Given the description of an element on the screen output the (x, y) to click on. 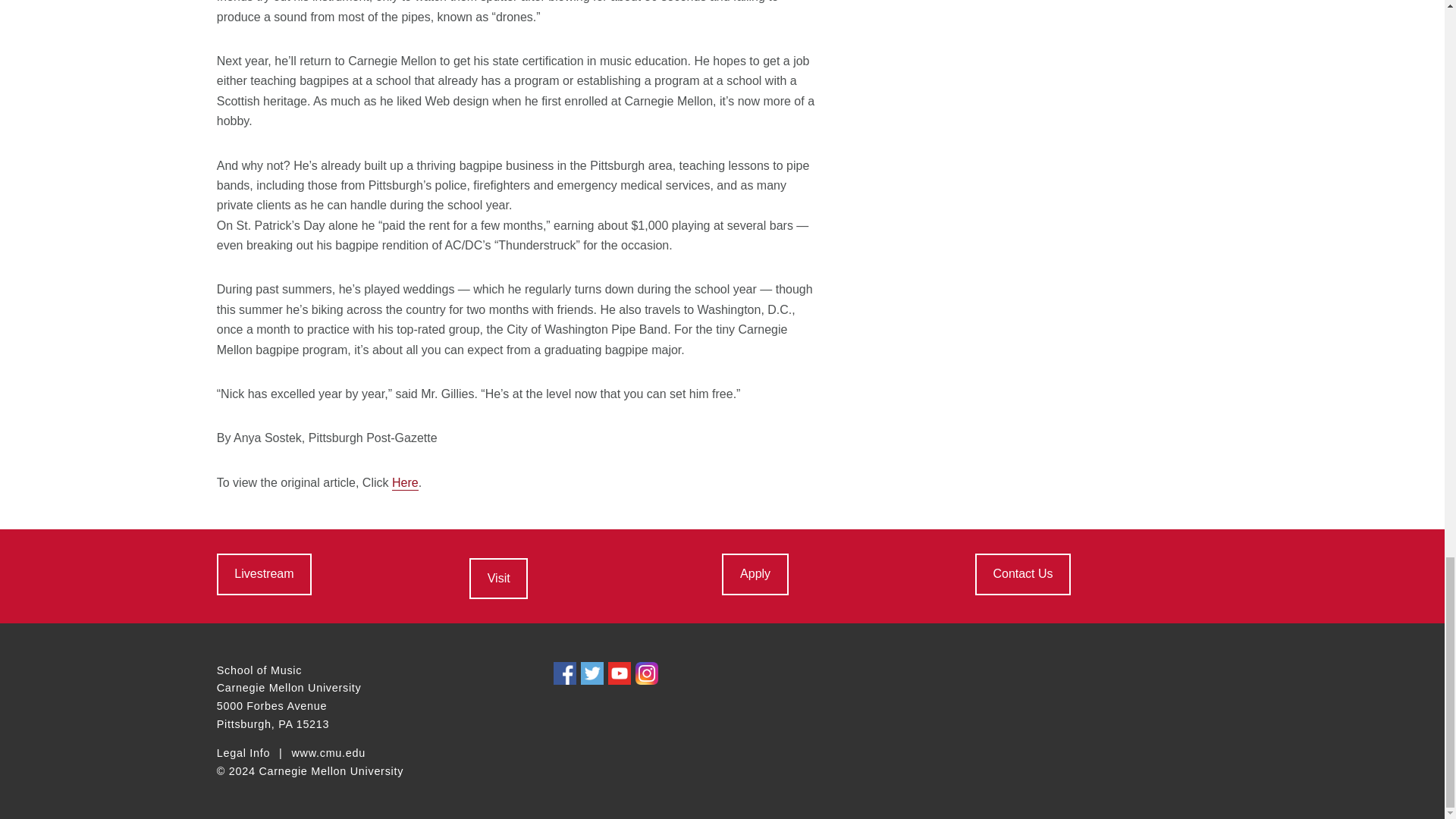
CMU on Twitter (592, 672)
Here (405, 482)
Livestream (263, 573)
www.cmu.edu (328, 753)
CMU YouTube Channel (619, 672)
Legal Info (242, 753)
CMU Music Youtube (263, 573)
Contact Us (1022, 573)
CMU on Instagram (646, 672)
CMU on Facebook (564, 672)
Apply (754, 573)
Apply button (754, 573)
Visit (497, 577)
